Given the description of an element on the screen output the (x, y) to click on. 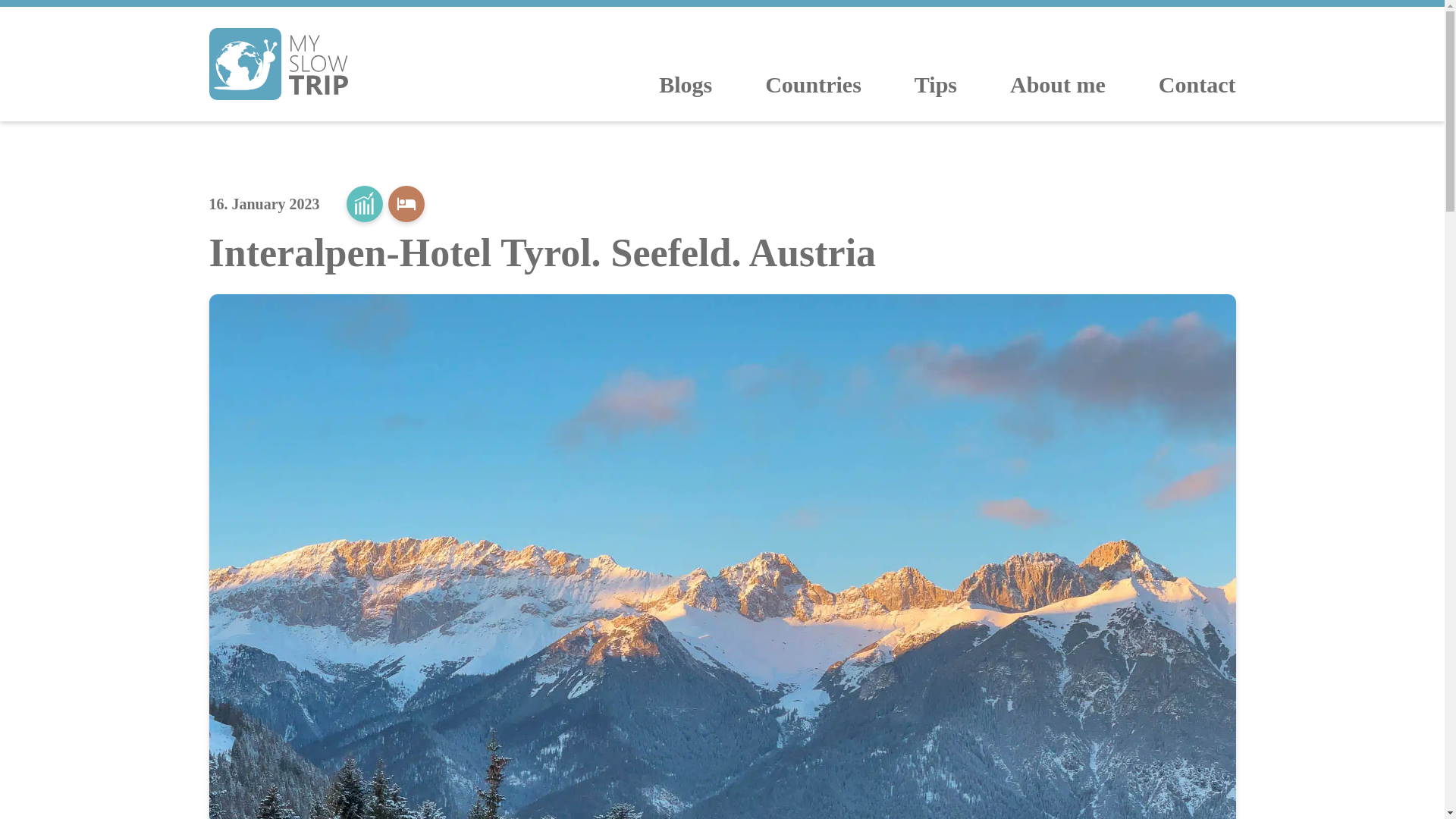
Blogs (685, 84)
Tips (935, 84)
Contact (1197, 84)
About me (1057, 84)
Countries (813, 84)
